Given the description of an element on the screen output the (x, y) to click on. 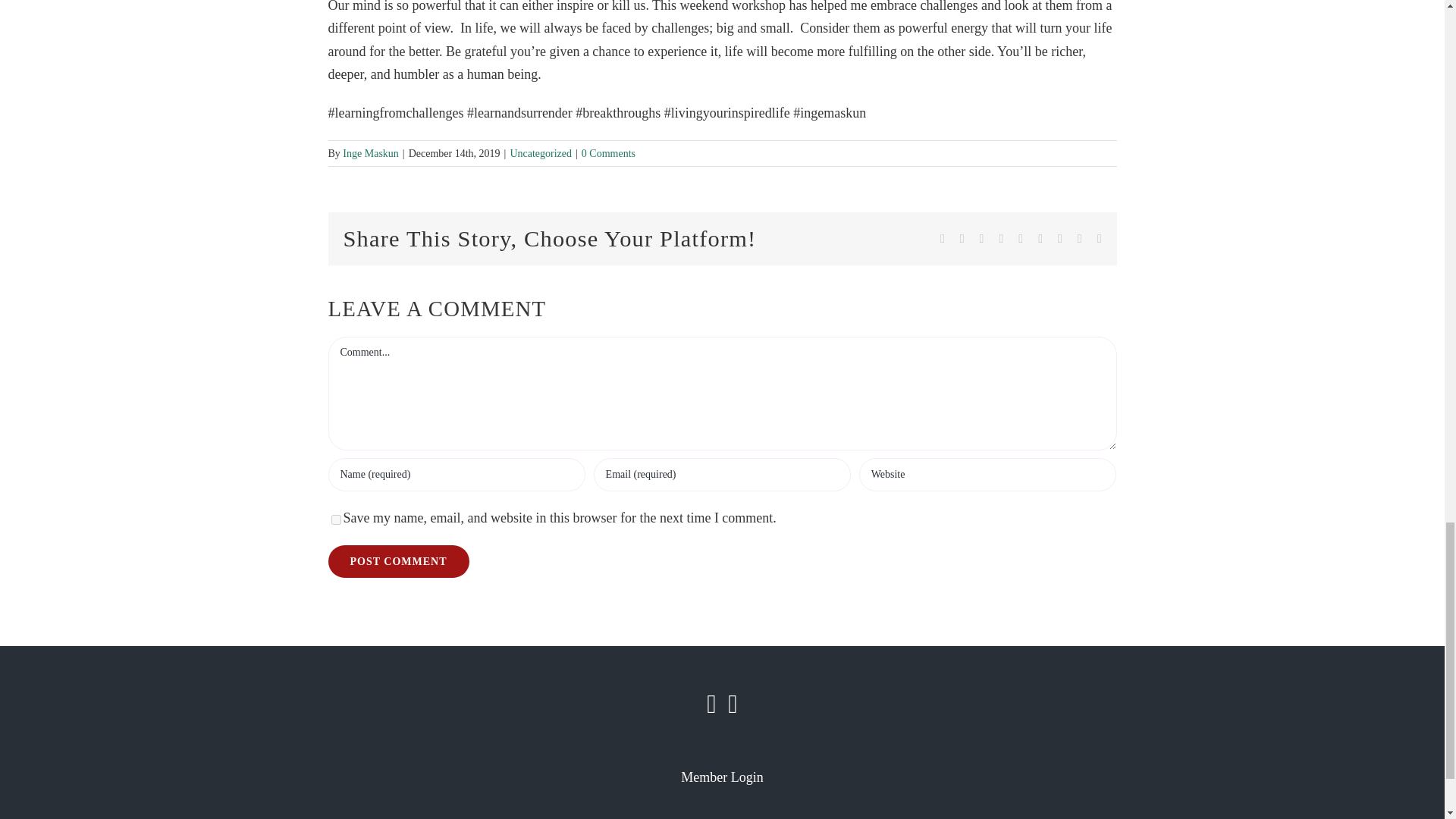
Posts by Inge Maskun (370, 153)
Post Comment (397, 561)
Uncategorized (540, 153)
yes (335, 519)
Post Comment (397, 561)
Member Login (721, 776)
Inge Maskun (370, 153)
0 Comments (607, 153)
